Given the description of an element on the screen output the (x, y) to click on. 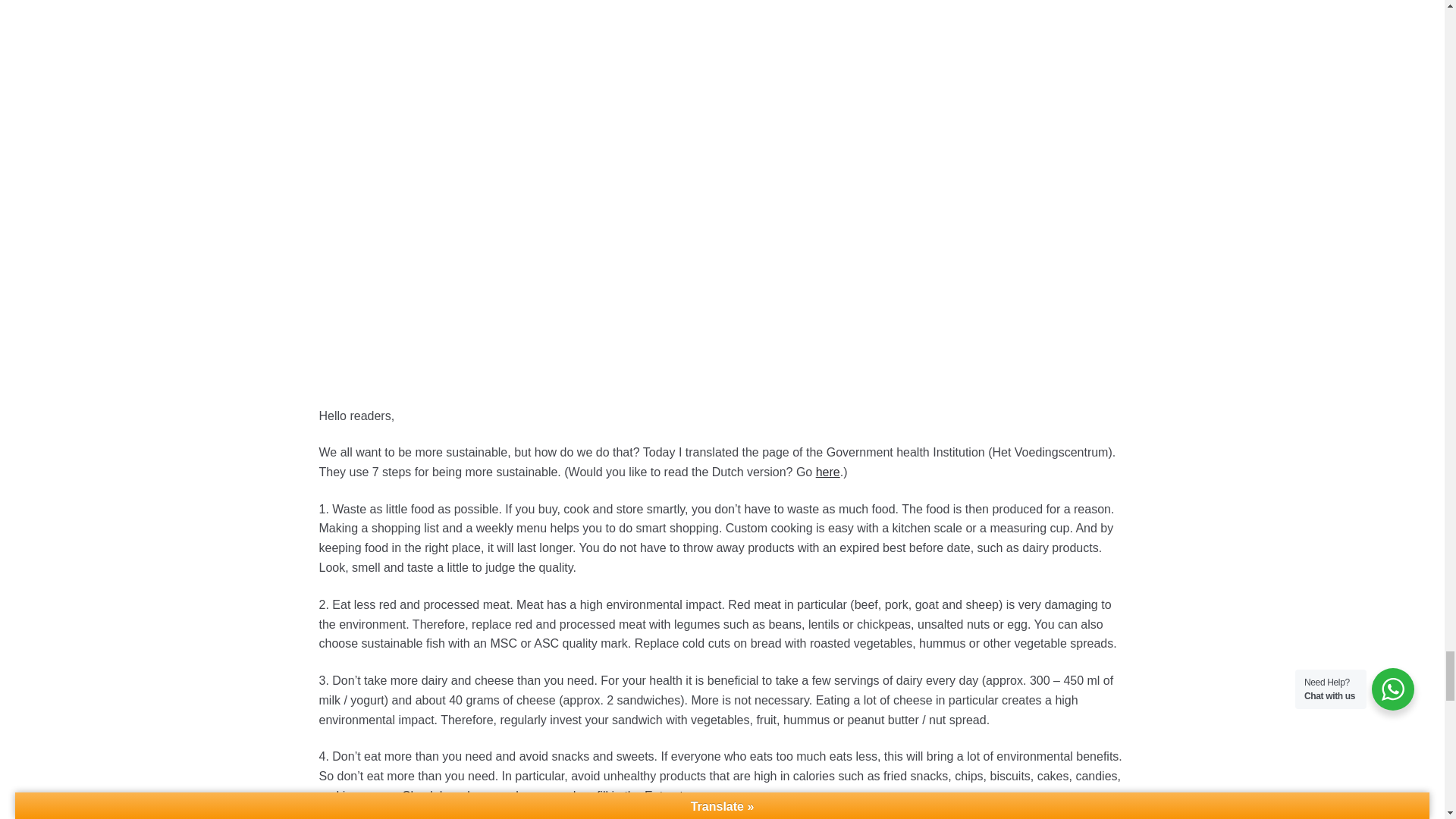
here (827, 472)
